Given the description of an element on the screen output the (x, y) to click on. 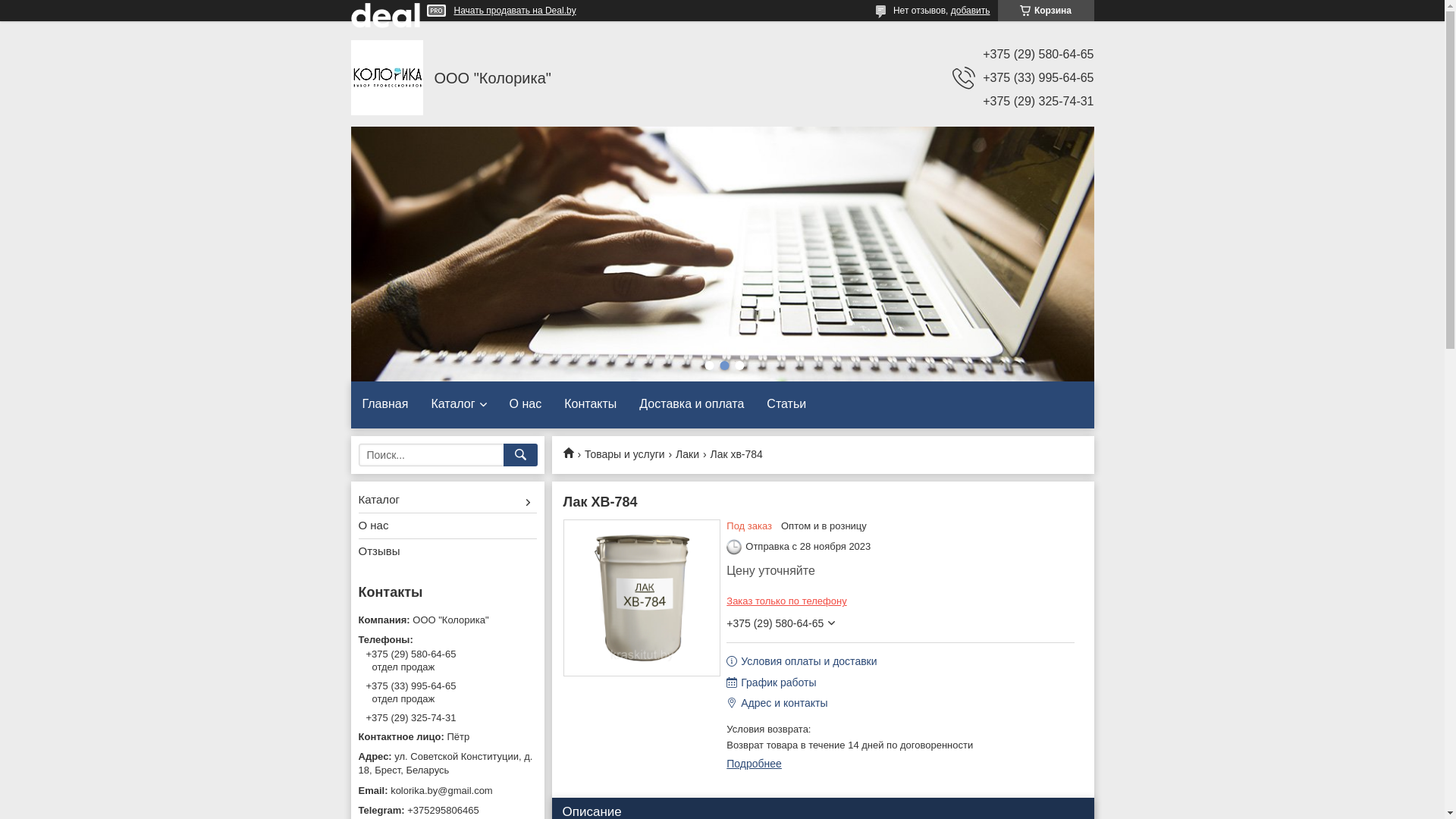
kolorika.by@gmail.com Element type: text (446, 790)
